Given the description of an element on the screen output the (x, y) to click on. 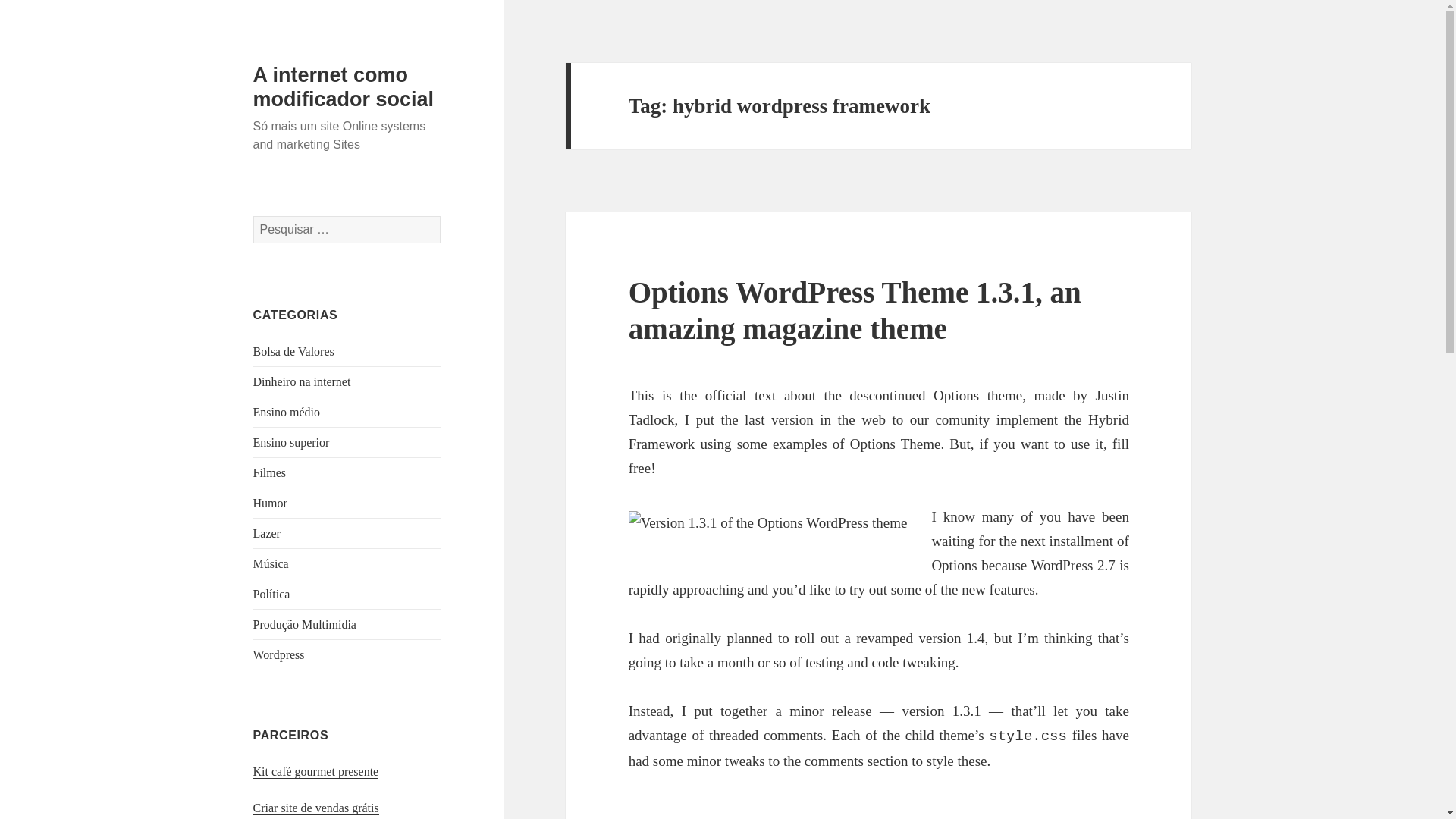
Options WordPress Theme Version 1.3.1 (767, 523)
Wordpress (278, 654)
Options WordPress Theme 1.3.1, an amazing magazine theme (854, 310)
A internet como modificador social (343, 86)
Filmes (269, 472)
Humor (269, 502)
Dinheiro na internet (301, 381)
Lazer (267, 533)
Bolsa de Valores (293, 350)
Ensino superior (291, 441)
